Given the description of an element on the screen output the (x, y) to click on. 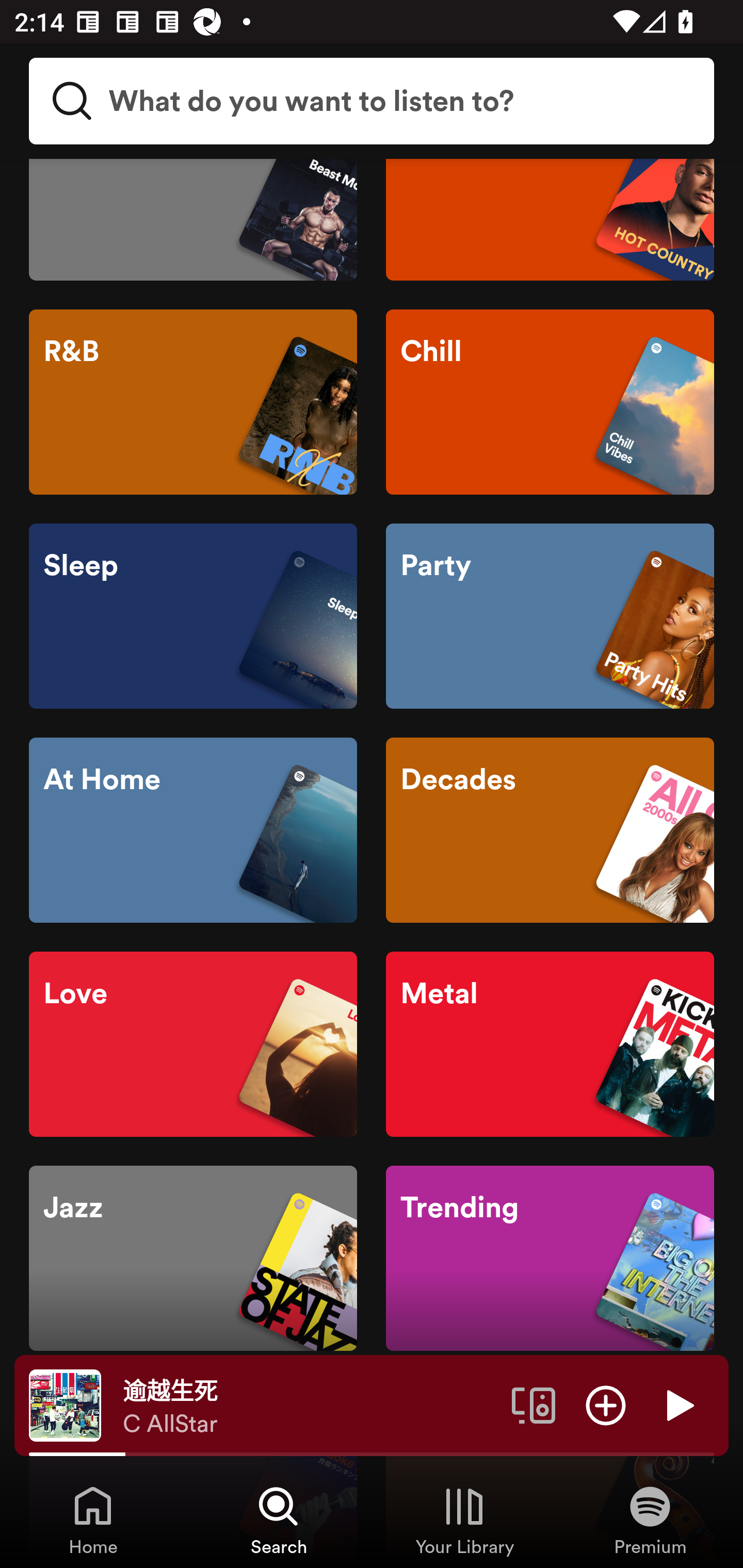
Workout (192, 219)
Country (549, 219)
R&B (192, 400)
Chill (549, 400)
Sleep (192, 615)
Party (549, 615)
At Home (192, 828)
Decades (549, 828)
Love (192, 1043)
Metal (549, 1043)
Jazz (192, 1258)
Trending (549, 1258)
逾越生死 C AllStar (309, 1405)
The cover art of the currently playing track (64, 1404)
Connect to a device. Opens the devices menu (533, 1404)
Add item (605, 1404)
Play (677, 1404)
Home, Tab 1 of 4 Home Home (92, 1519)
Search, Tab 2 of 4 Search Search (278, 1519)
Your Library, Tab 3 of 4 Your Library Your Library (464, 1519)
Premium, Tab 4 of 4 Premium Premium (650, 1519)
